Given the description of an element on the screen output the (x, y) to click on. 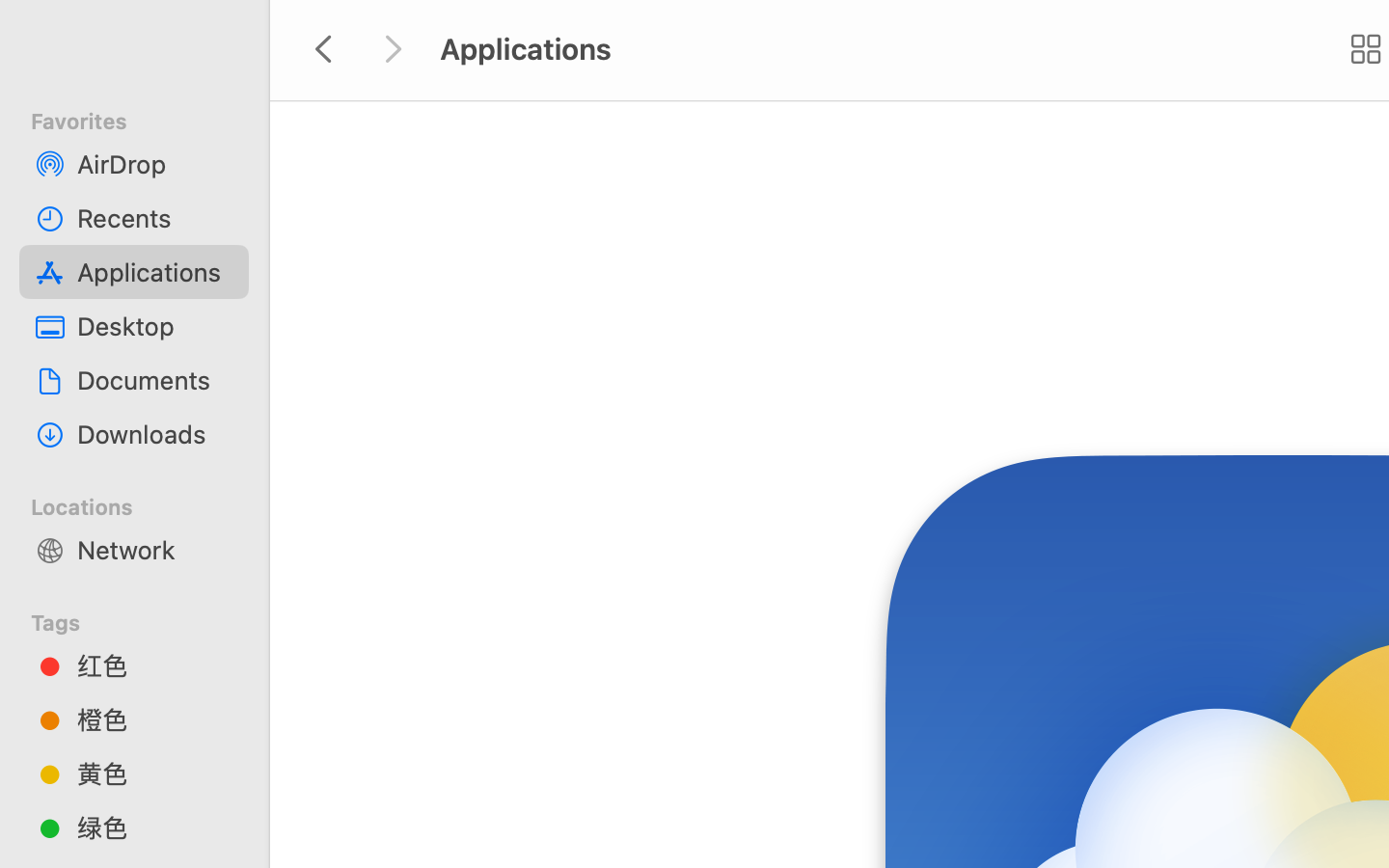
Network Element type: AXStaticText (155, 549)
Favorites Element type: AXStaticText (145, 118)
红色 Element type: AXStaticText (155, 665)
黄色 Element type: AXStaticText (155, 773)
Desktop Element type: AXStaticText (155, 325)
